Given the description of an element on the screen output the (x, y) to click on. 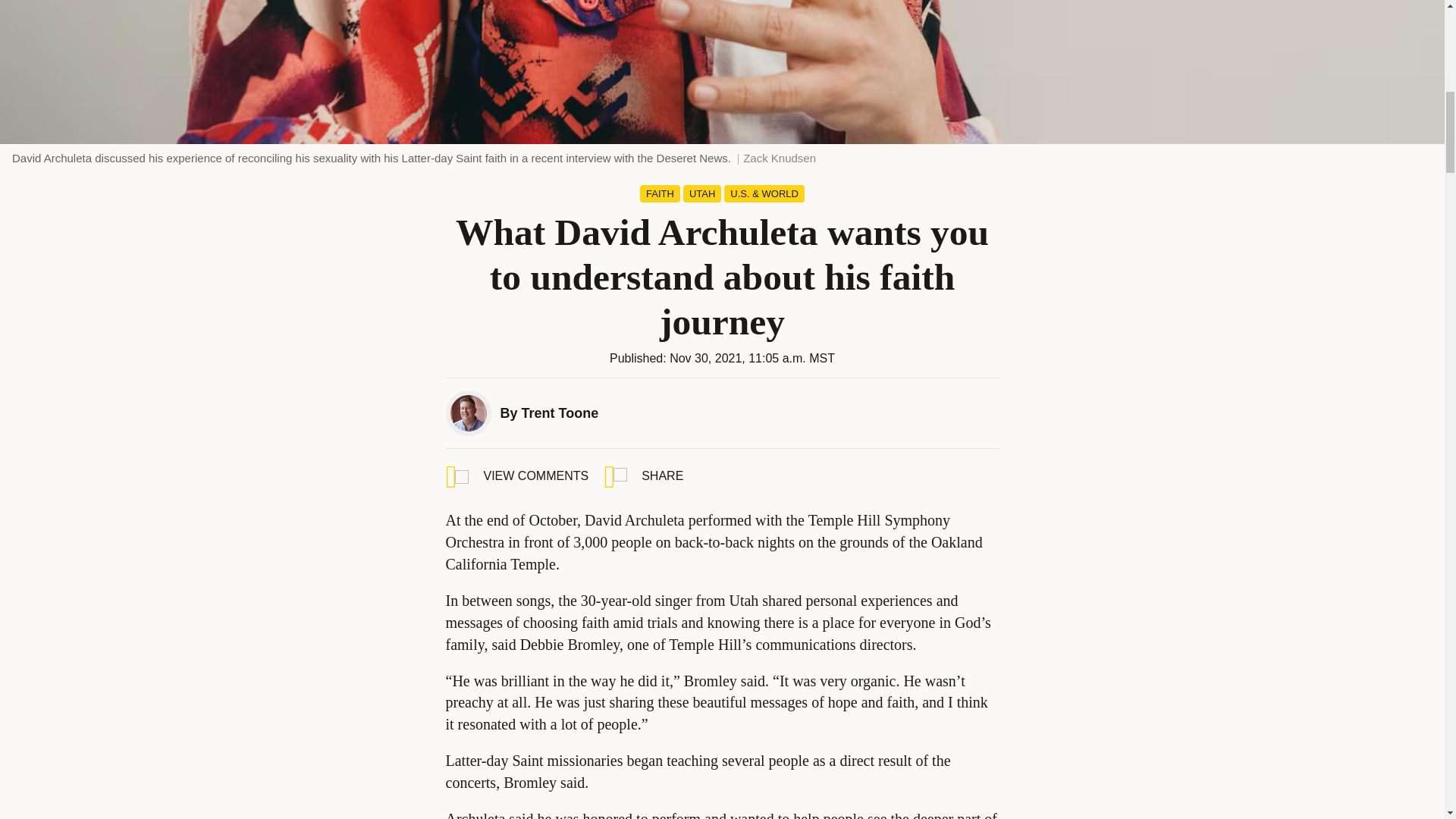
Trent Toone (559, 412)
UTAH (701, 193)
FAITH (659, 193)
